Given the description of an element on the screen output the (x, y) to click on. 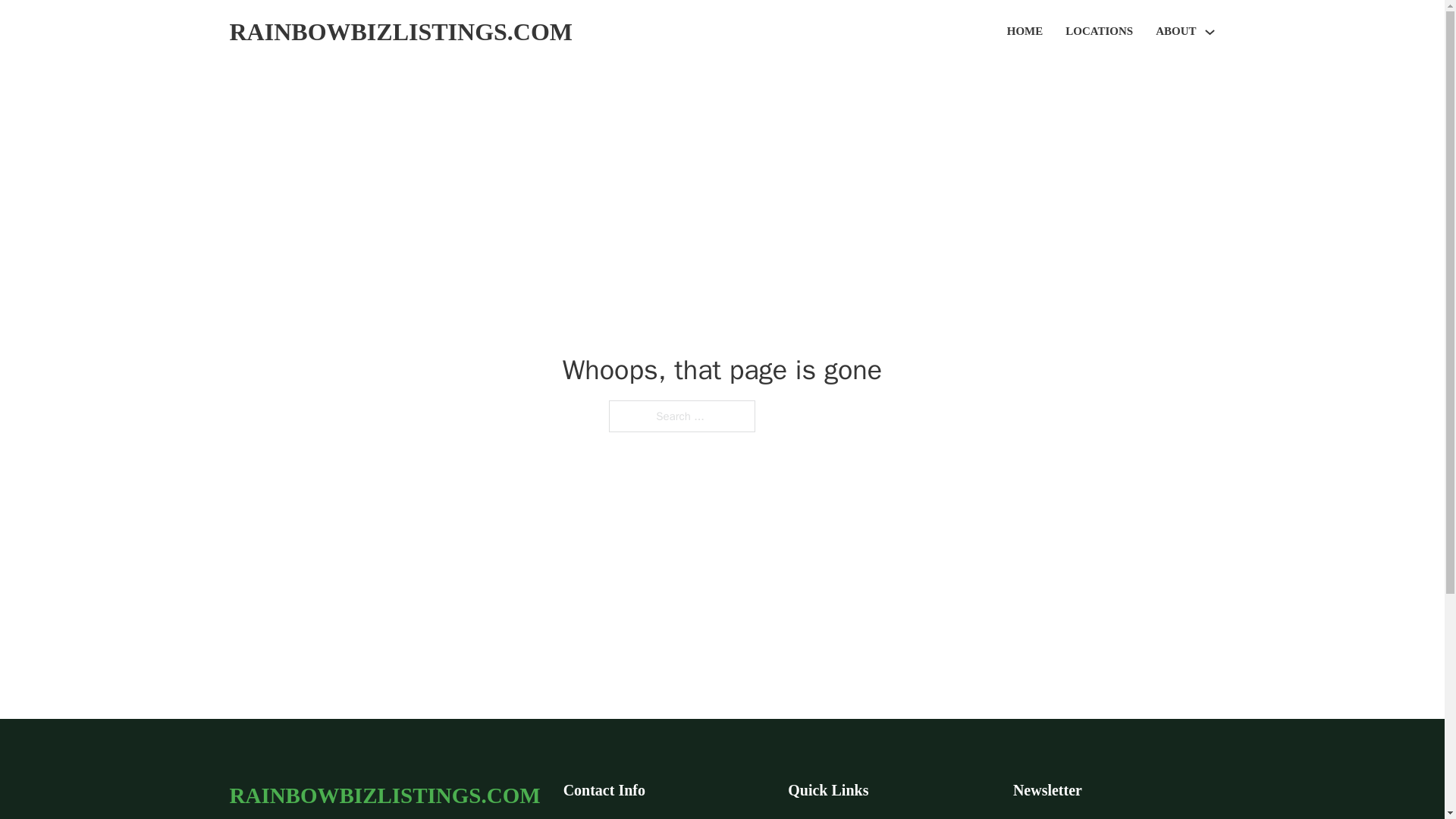
HOME (1025, 31)
RAINBOWBIZLISTINGS.COM (384, 795)
RAINBOWBIZLISTINGS.COM (400, 31)
LOCATIONS (1098, 31)
